Given the description of an element on the screen output the (x, y) to click on. 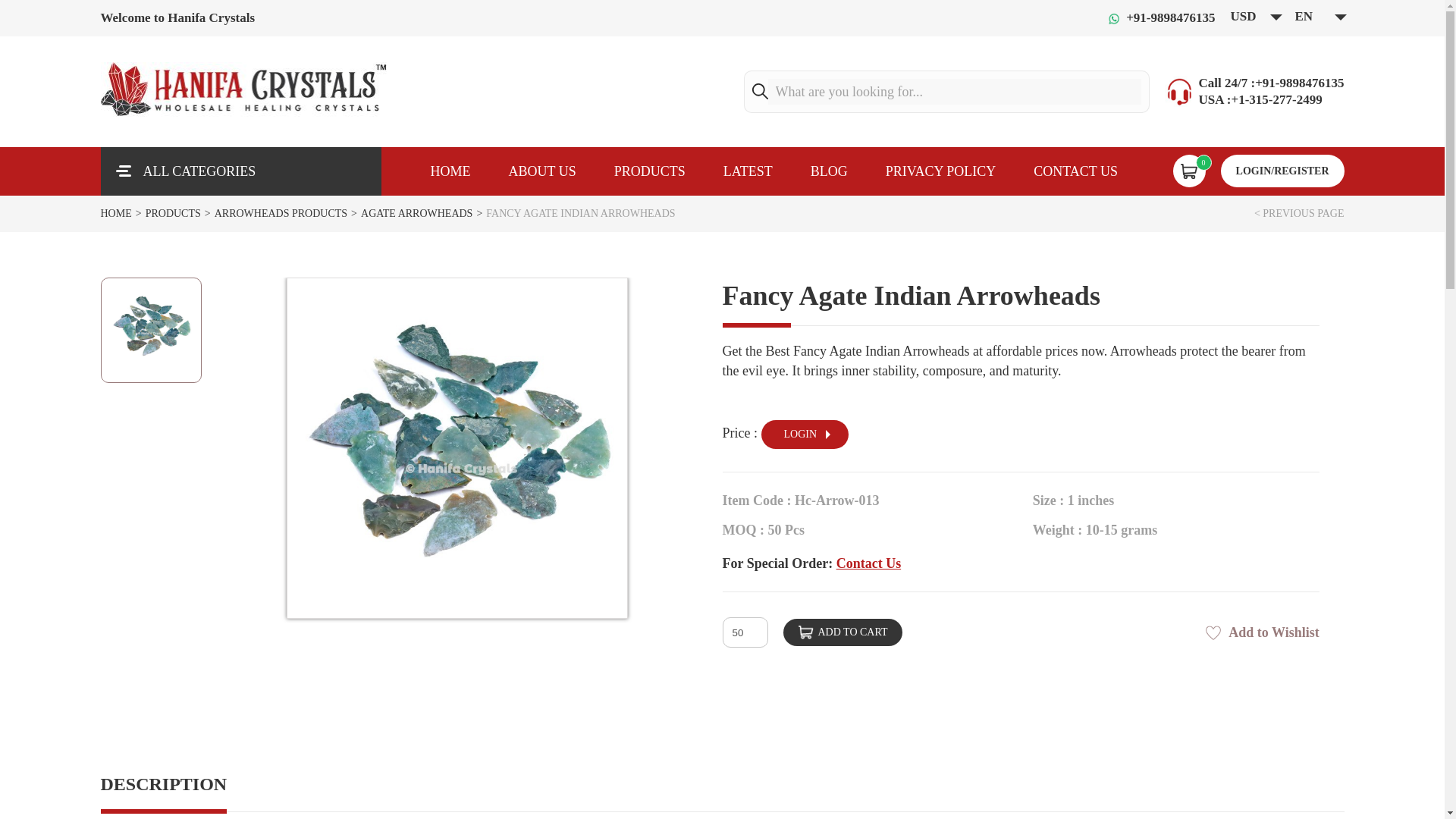
Whatsapp (1159, 17)
ALL CATEGORIES (240, 171)
EN (1319, 16)
50 (744, 632)
USD (1254, 16)
